Given the description of an element on the screen output the (x, y) to click on. 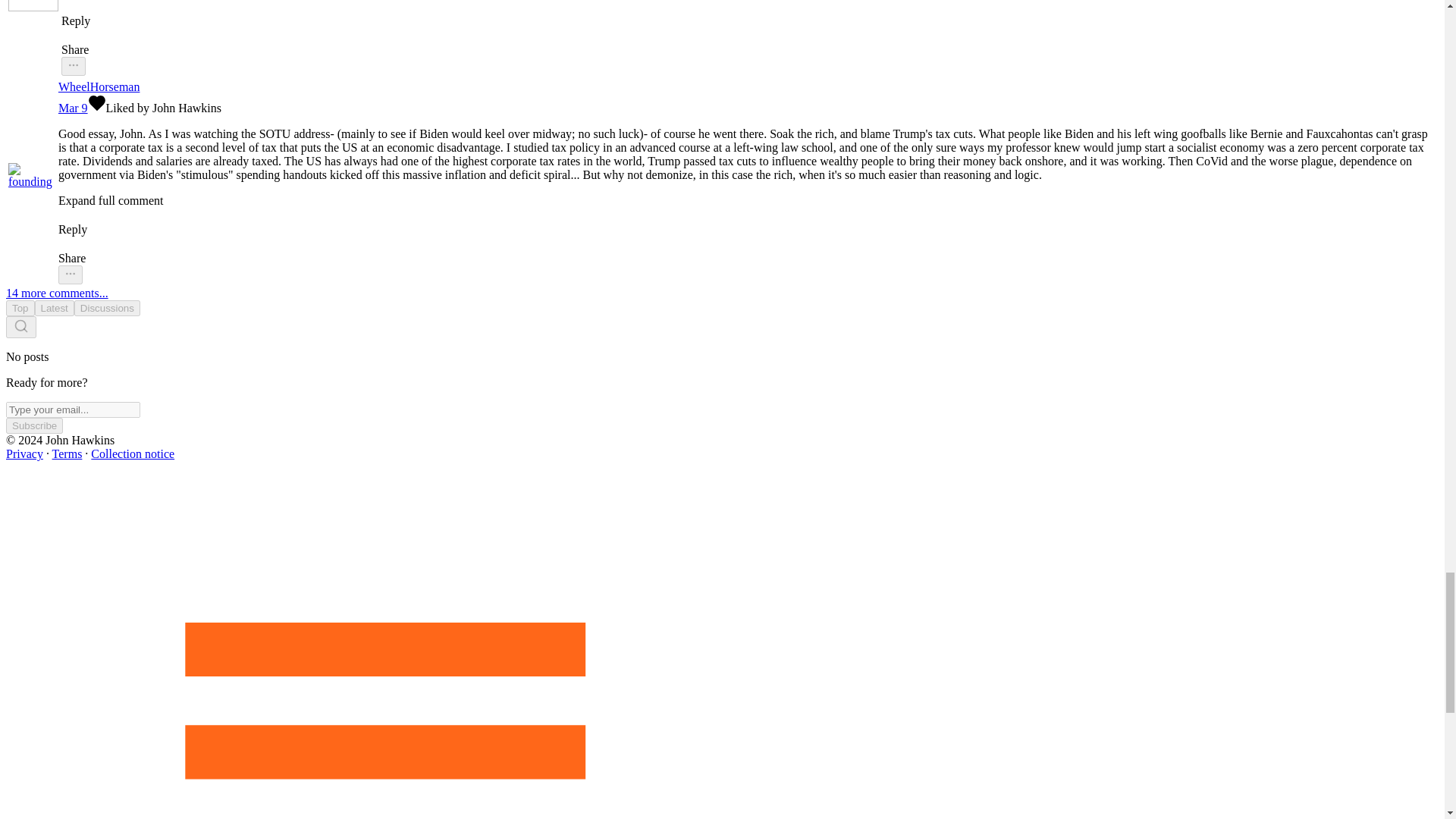
Founding Member (13, 194)
Founding Member (31, 195)
